Given the description of an element on the screen output the (x, y) to click on. 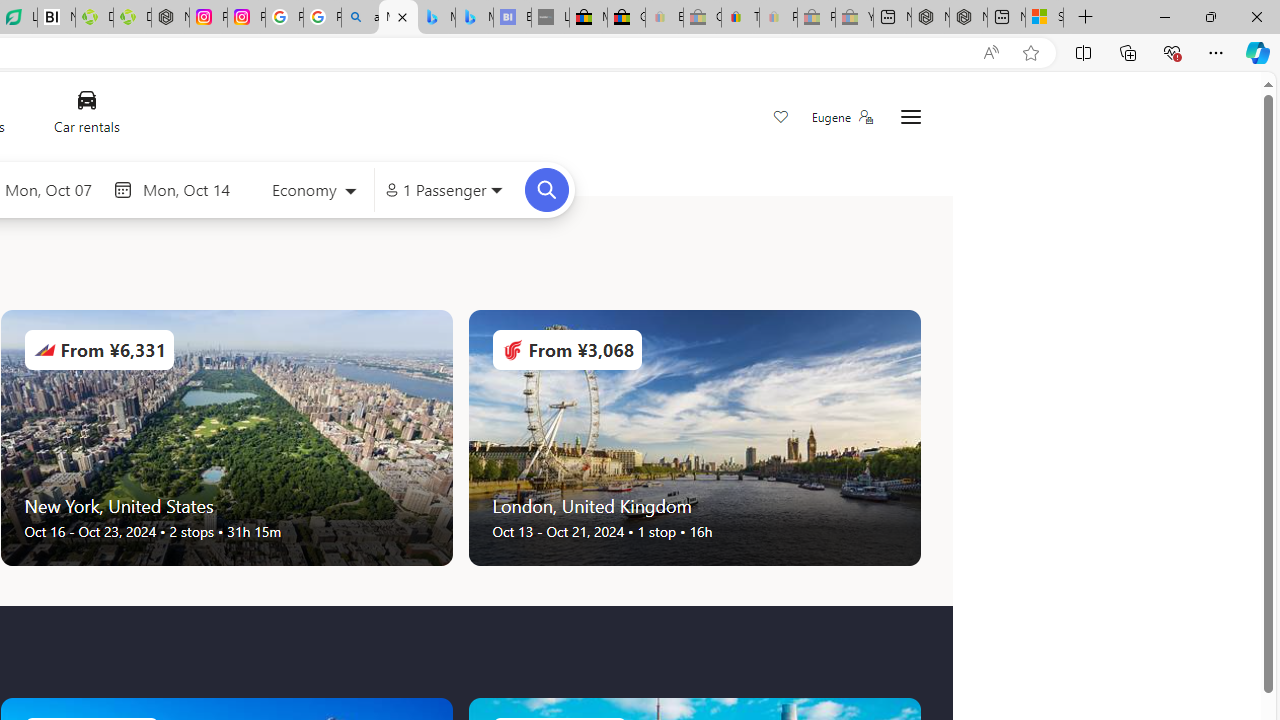
Eugene (841, 117)
